Given the description of an element on the screen output the (x, y) to click on. 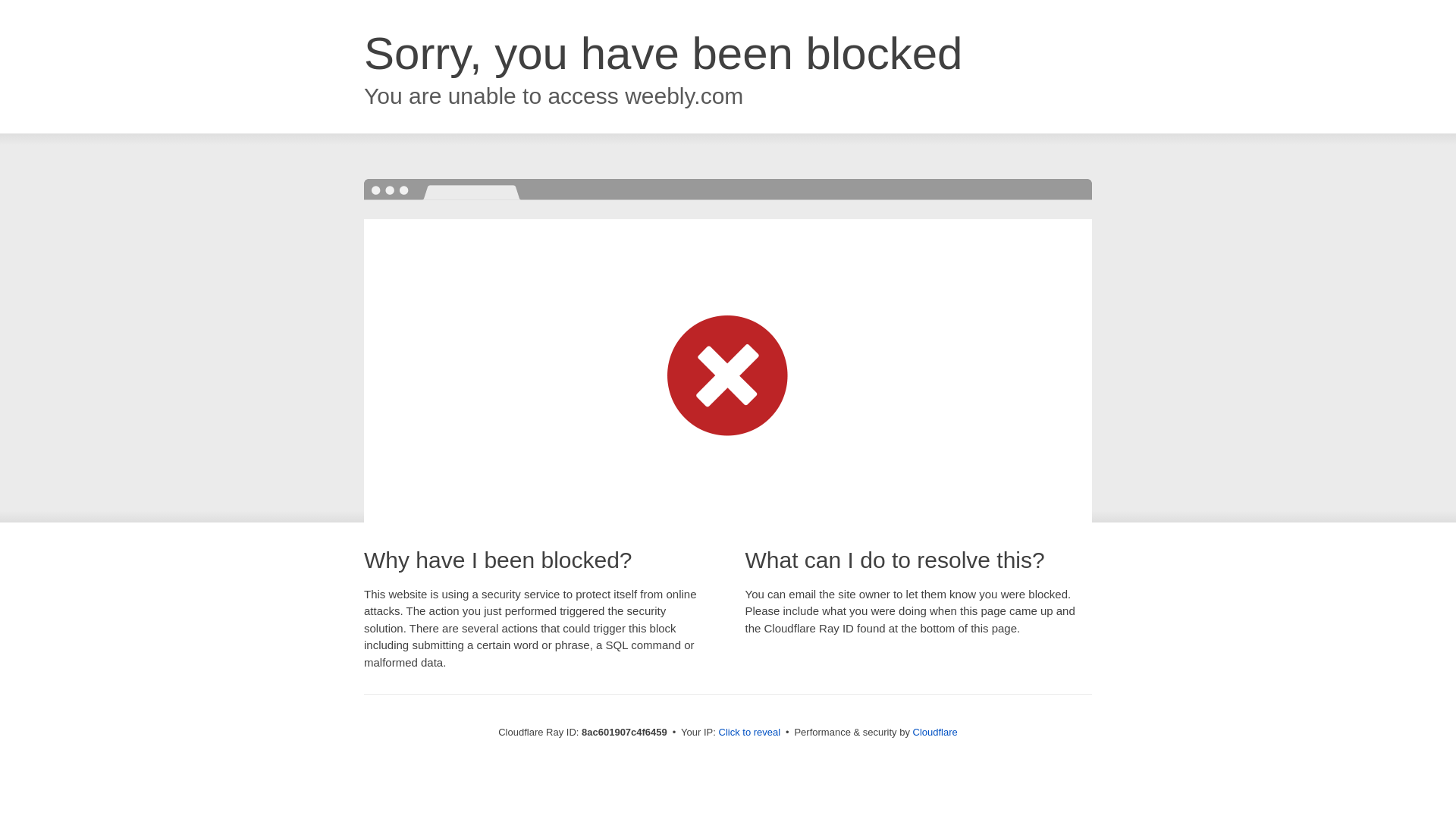
Cloudflare (935, 731)
Click to reveal (749, 732)
